Given the description of an element on the screen output the (x, y) to click on. 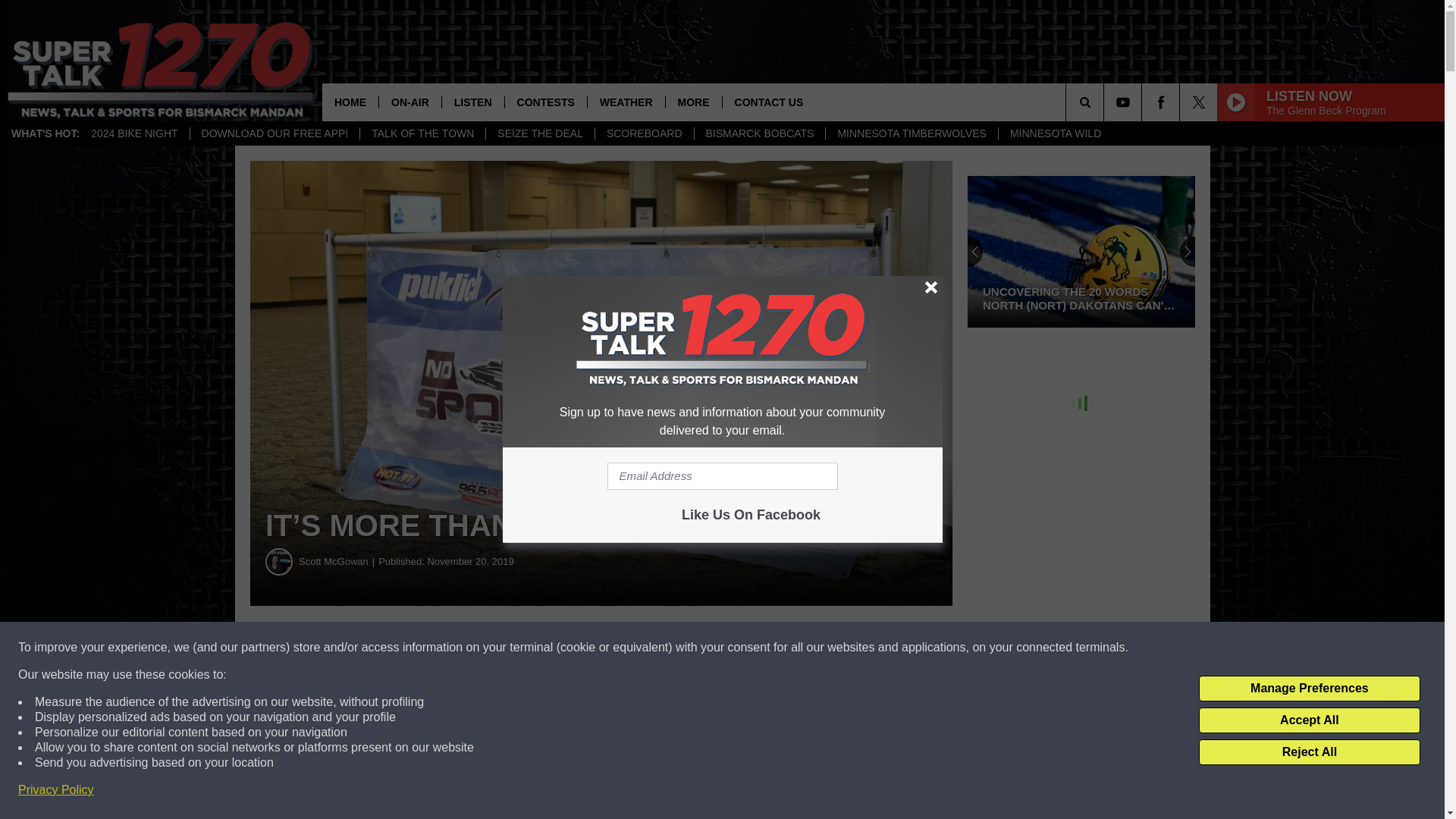
HOME (349, 102)
Share on Twitter (741, 647)
Share on Facebook (460, 647)
Email Address (722, 475)
MINNESOTA TIMBERWOLVES (911, 133)
SEARCH (1106, 102)
Reject All (1309, 751)
LISTEN (472, 102)
SEIZE THE DEAL (539, 133)
TALK OF THE TOWN (421, 133)
Accept All (1309, 720)
Manage Preferences (1309, 688)
SCOREBOARD (644, 133)
BISMARCK BOBCATS (759, 133)
Privacy Policy (55, 789)
